Given the description of an element on the screen output the (x, y) to click on. 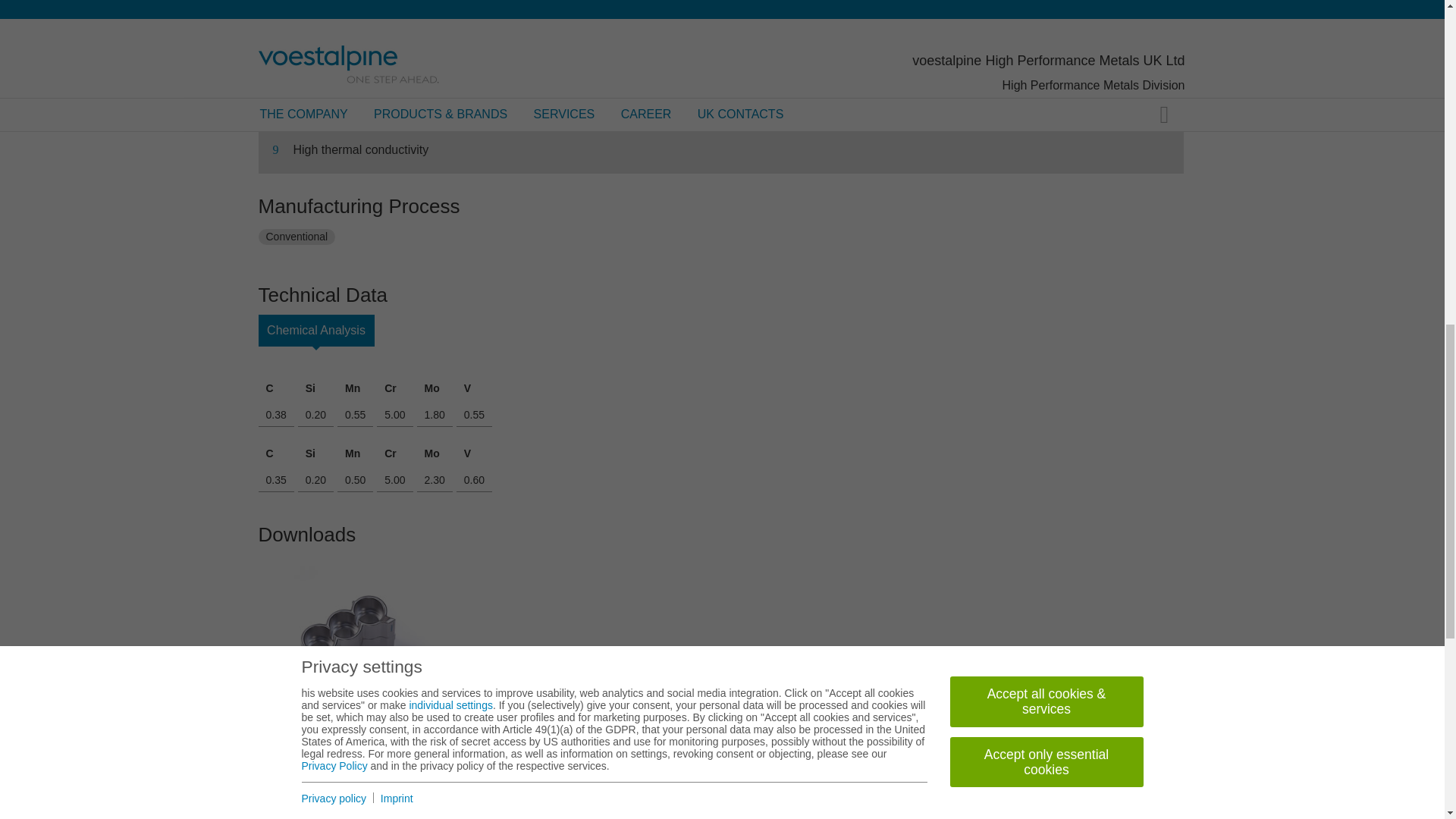
Datasheet Waterjackets Conventional EN (346, 643)
Conventional (295, 236)
